Given the description of an element on the screen output the (x, y) to click on. 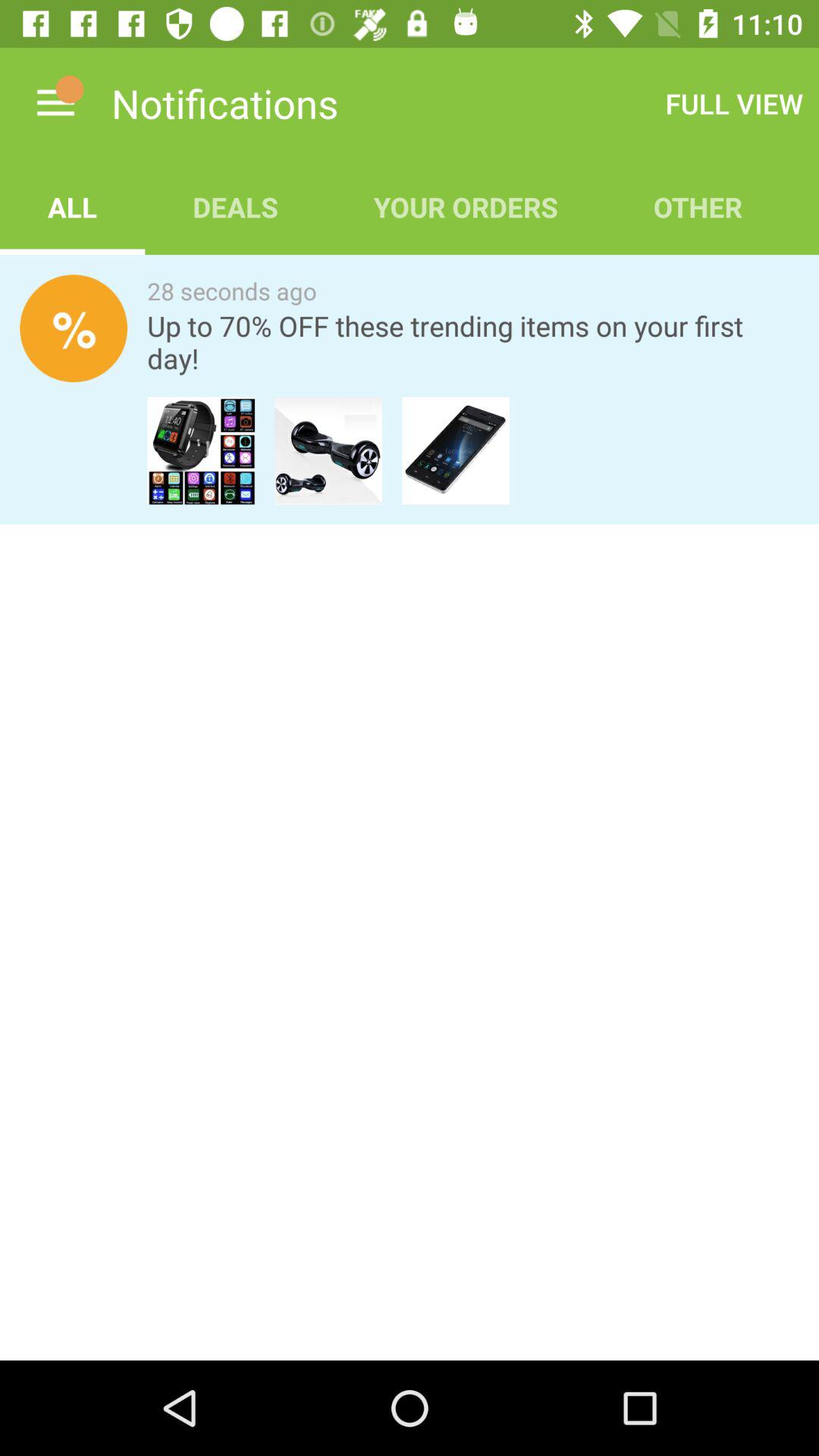
swipe to your orders app (465, 206)
